Given the description of an element on the screen output the (x, y) to click on. 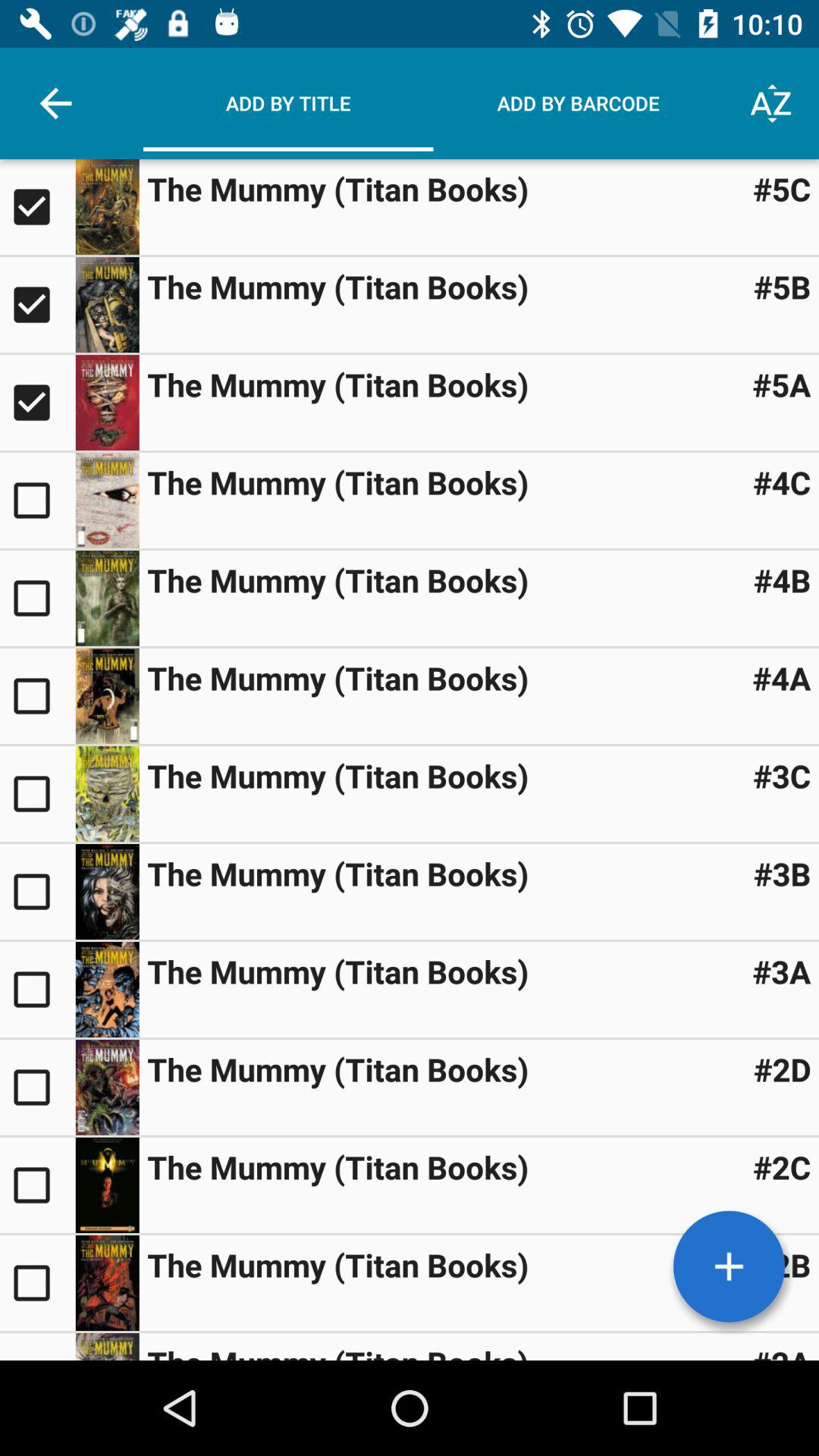
select book (107, 1087)
